Given the description of an element on the screen output the (x, y) to click on. 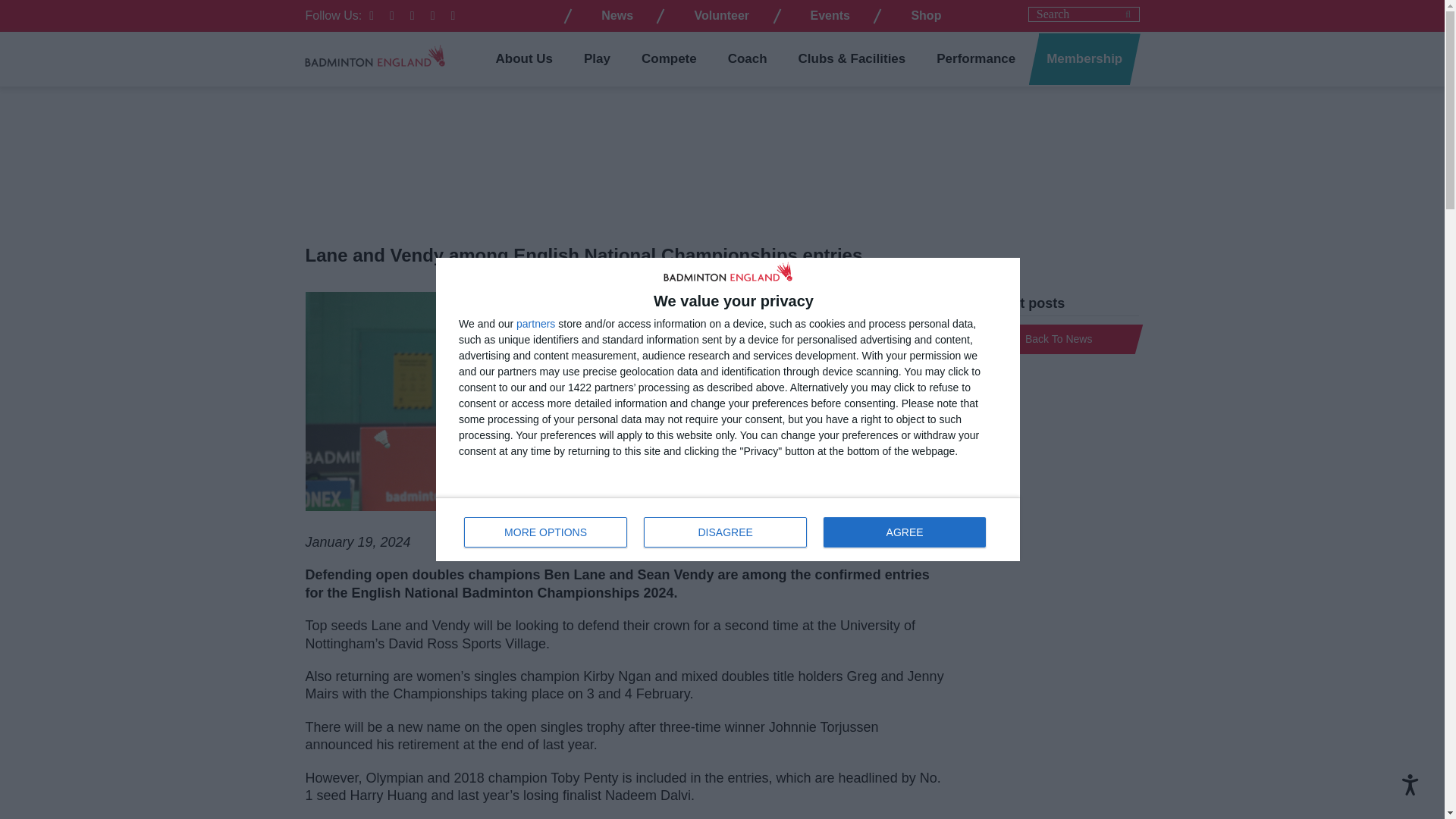
DISAGREE (724, 531)
About Us (524, 59)
News (617, 15)
partners (727, 529)
Open Accessibility Menu (535, 323)
Volunteer (1410, 784)
Events (721, 15)
MORE OPTIONS (830, 15)
Shop (545, 531)
AGREE (925, 15)
